Given the description of an element on the screen output the (x, y) to click on. 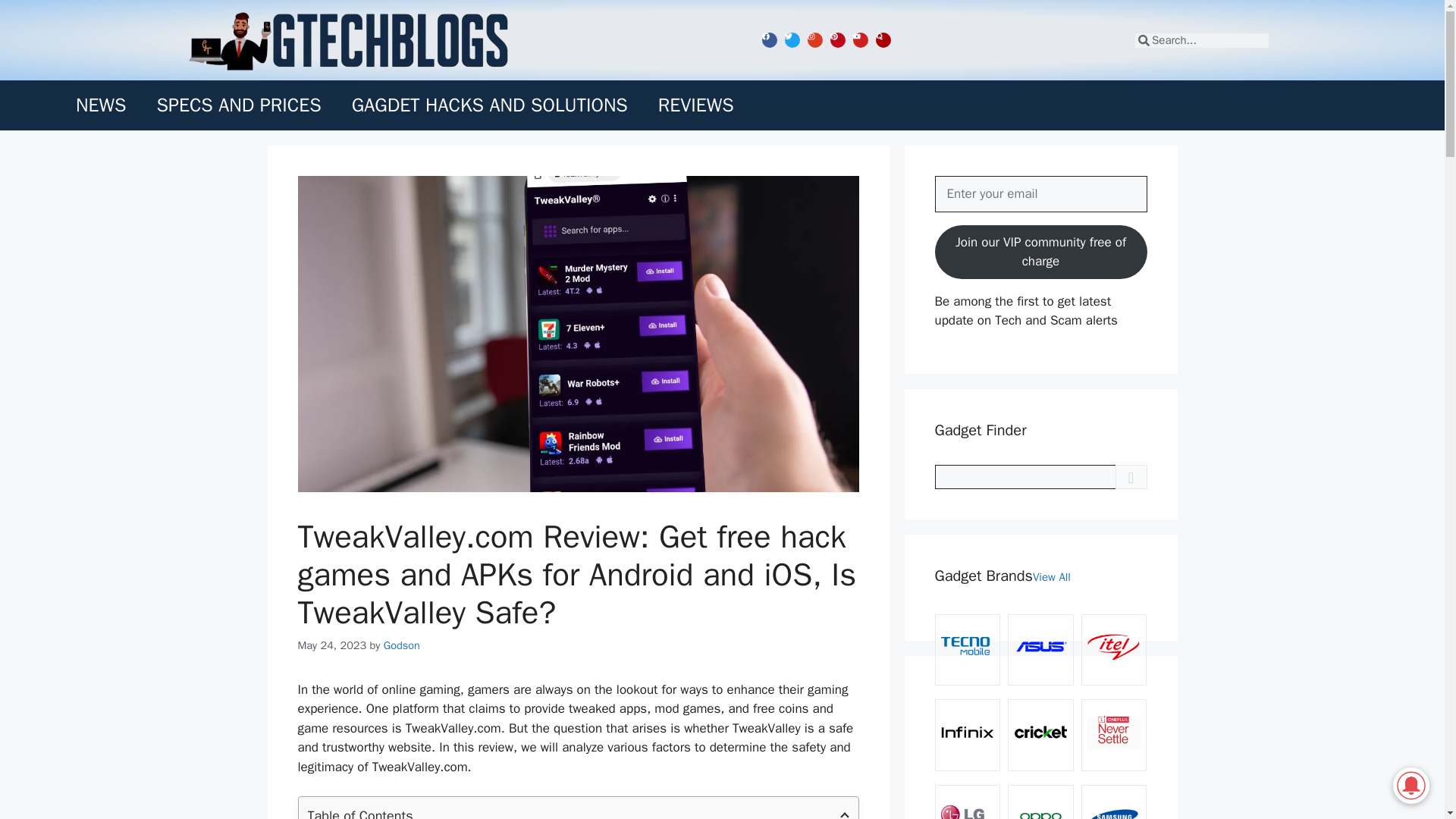
GAGDET HACKS AND SOLUTIONS (489, 104)
SPECS AND PRICES (238, 104)
NEWS (101, 104)
Enter your email (1040, 194)
Godson (402, 644)
View all posts by Godson (402, 644)
REVIEWS (696, 104)
